Given the description of an element on the screen output the (x, y) to click on. 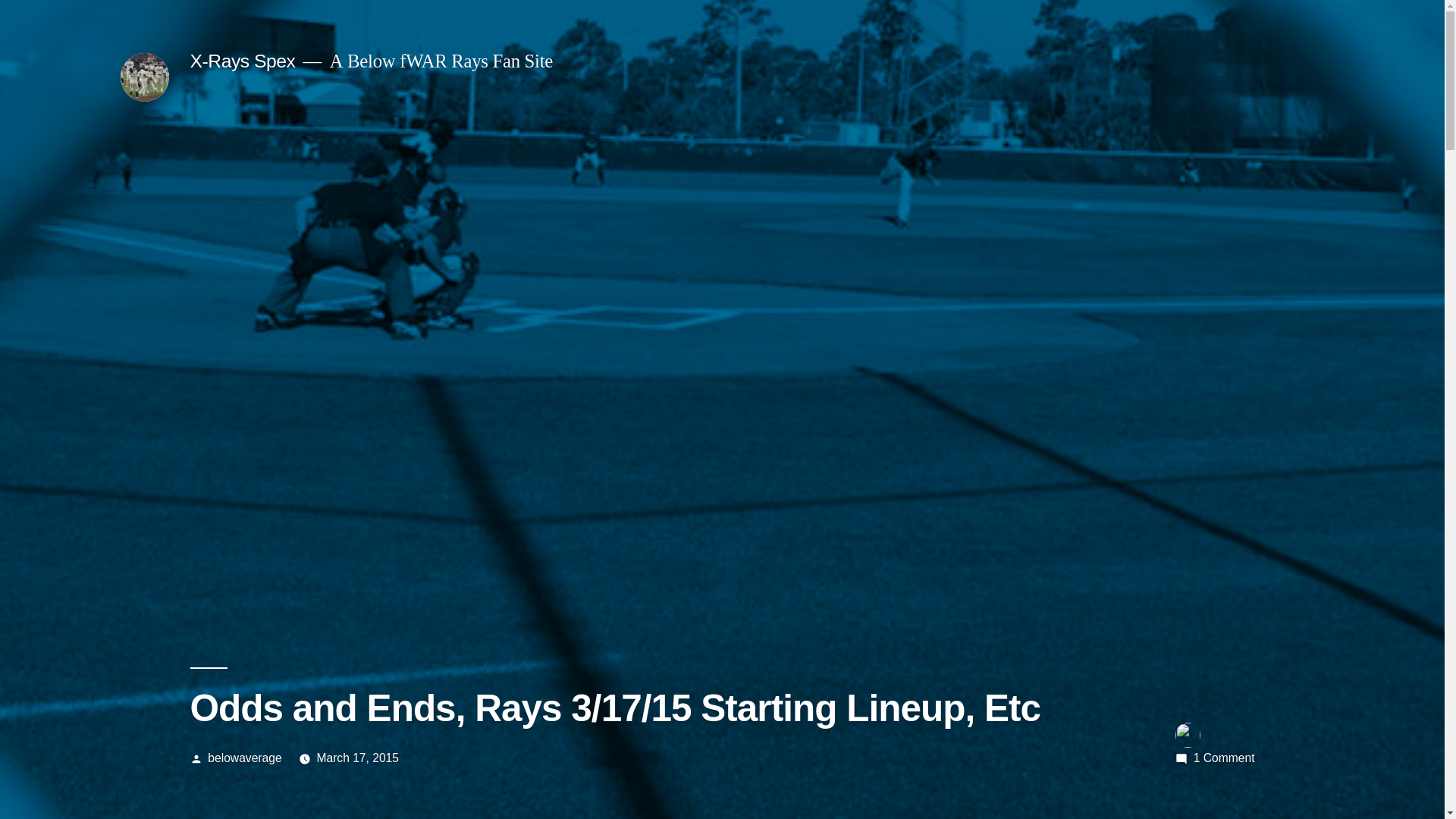
belowaverage (244, 757)
March 17, 2015 (356, 757)
X-Rays Spex (242, 60)
